Given the description of an element on the screen output the (x, y) to click on. 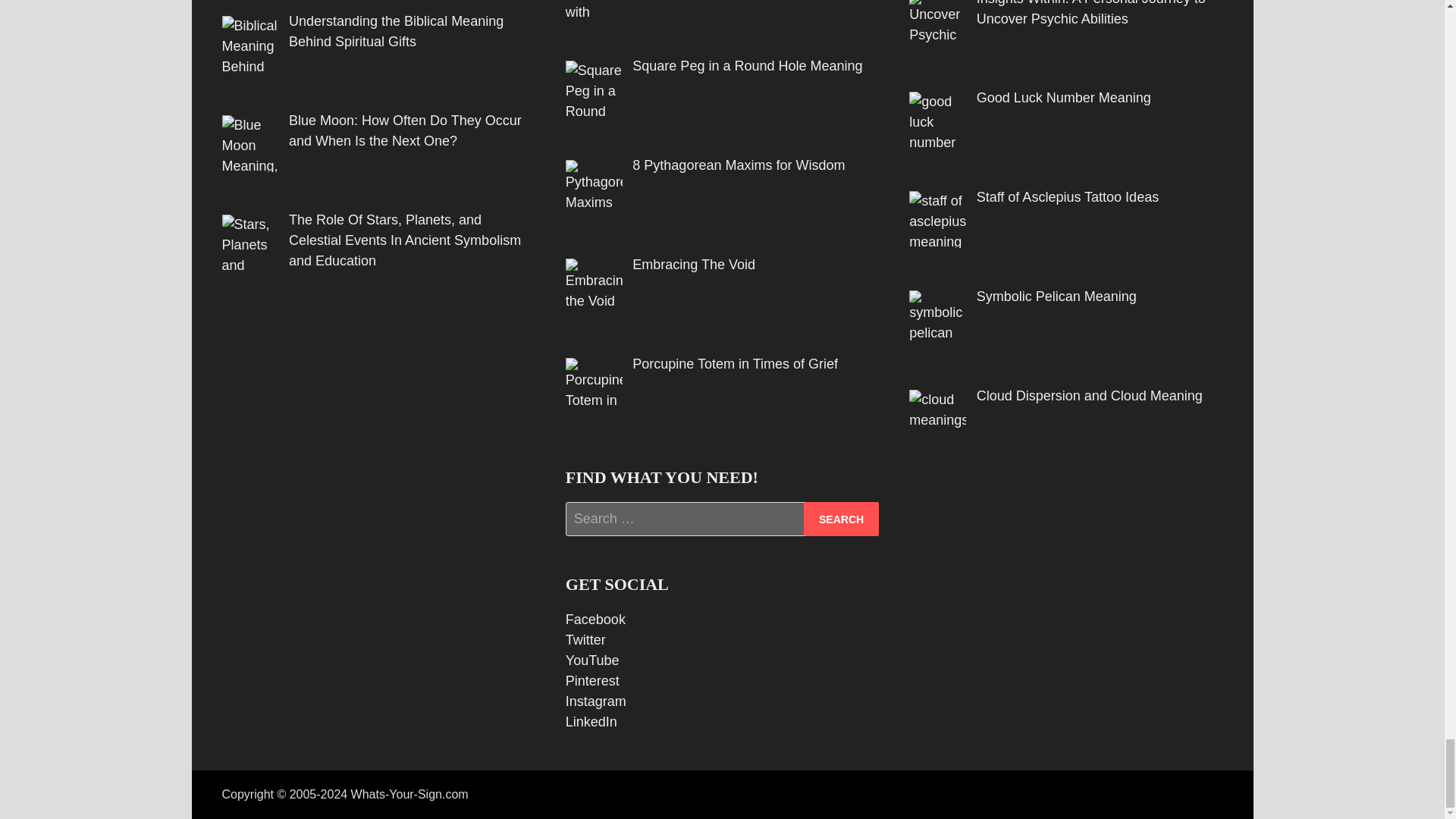
Search (841, 519)
Search (841, 519)
